Given the description of an element on the screen output the (x, y) to click on. 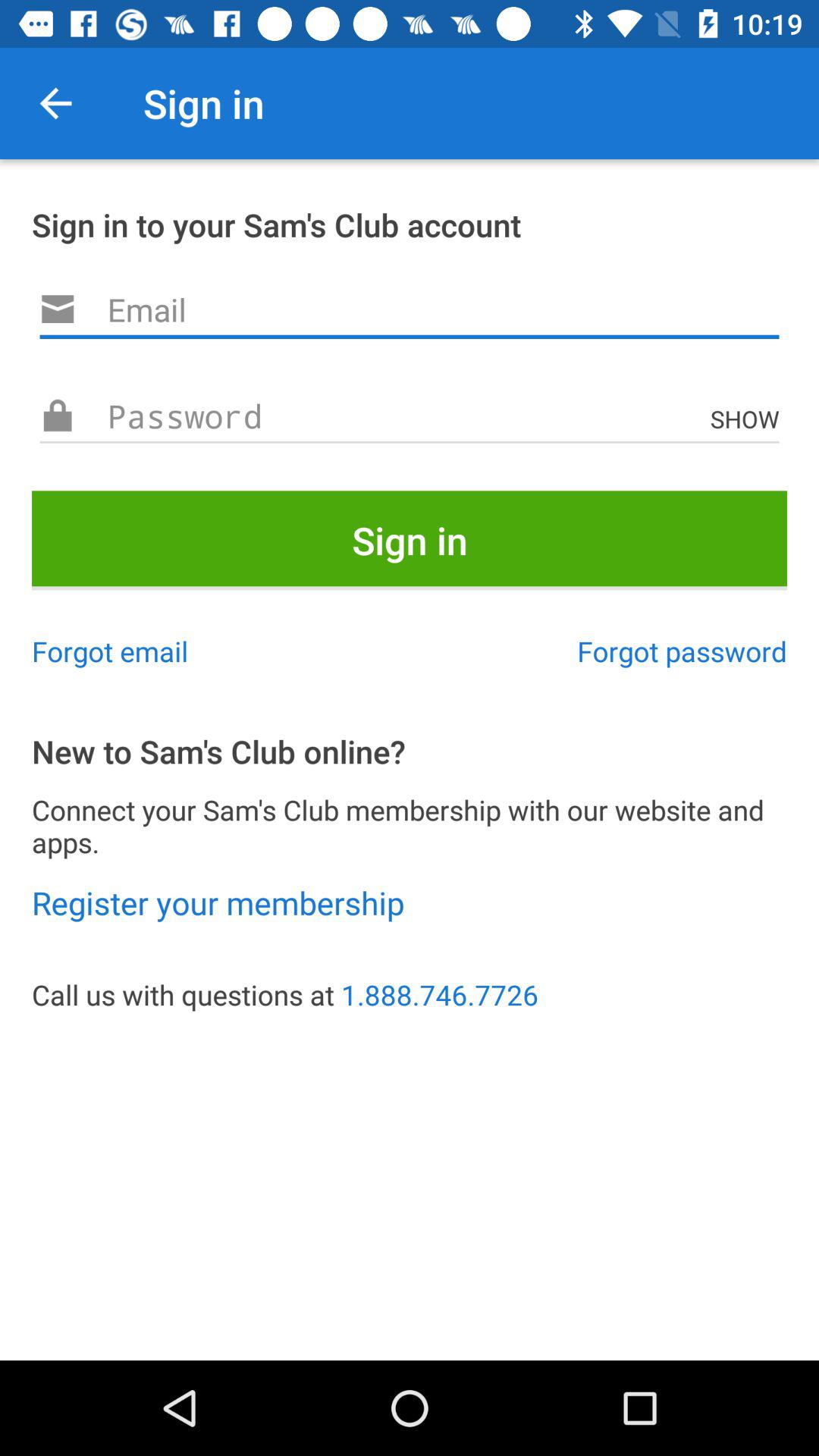
click the forgot password item (682, 650)
